Given the description of an element on the screen output the (x, y) to click on. 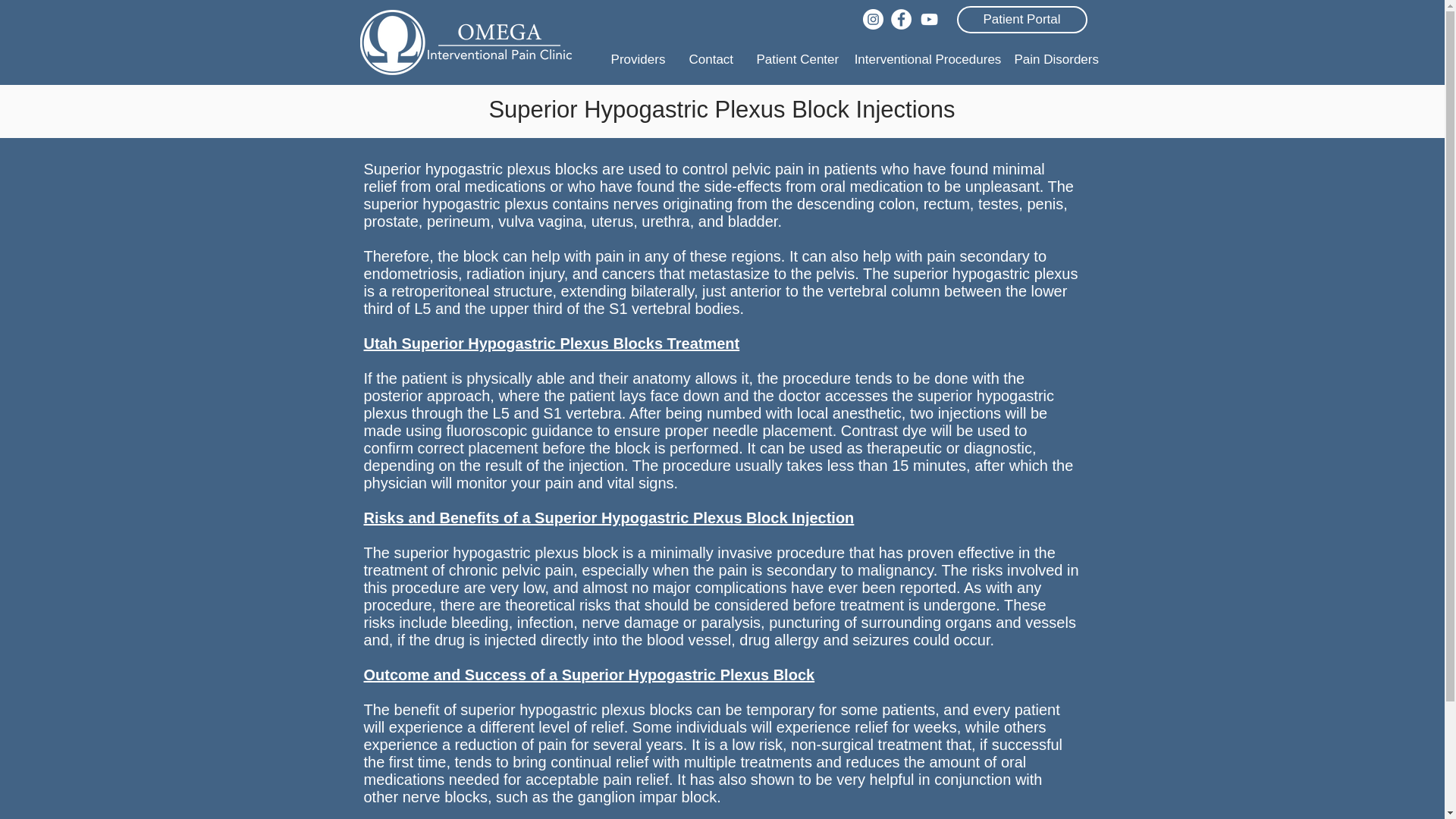
Providers (637, 58)
Patient Center (796, 58)
Patient Portal (1021, 19)
Contact (710, 58)
Pain Disorders (1056, 59)
